Given the description of an element on the screen output the (x, y) to click on. 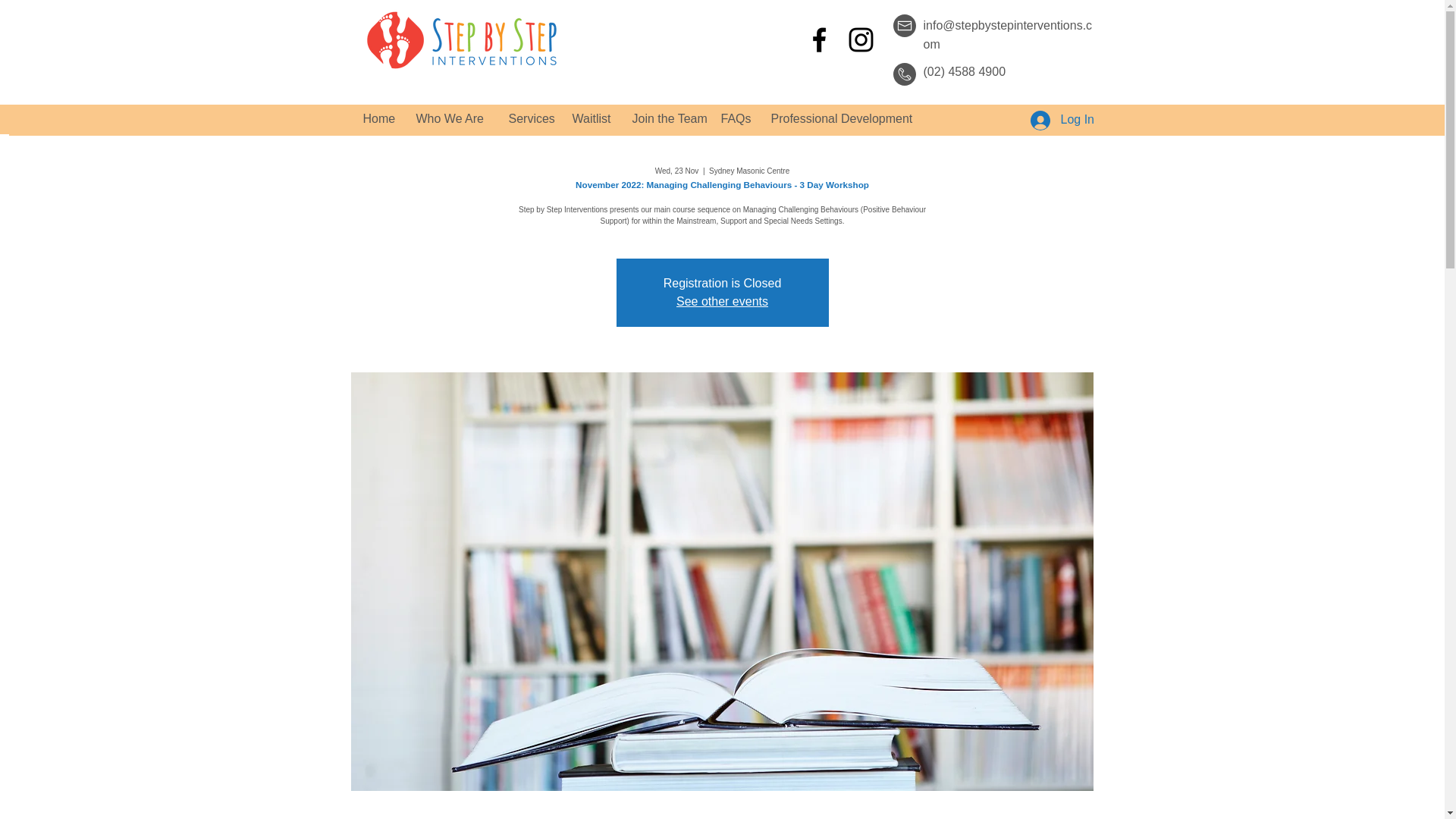
Waitlist (590, 118)
Professional Development (835, 118)
FAQs (735, 118)
Join the Team (664, 118)
Services (528, 118)
Who We Are (450, 118)
See other events (722, 300)
Home (378, 118)
Log In (1056, 119)
